Given the description of an element on the screen output the (x, y) to click on. 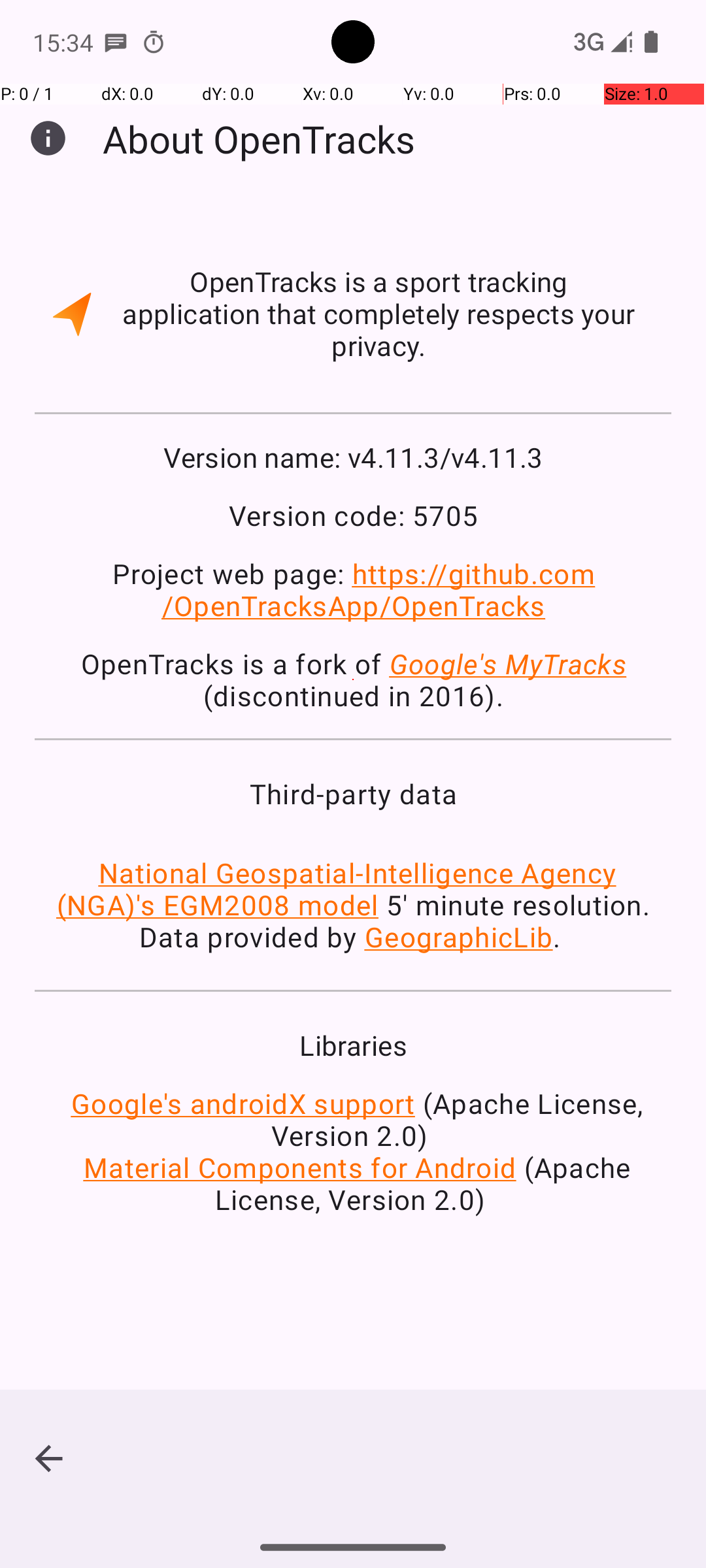
About OpenTracks Element type: android.widget.TextView (258, 138)
OpenTracks is a sport tracking application that completely respects your privacy. Element type: android.widget.TextView (378, 312)
Version name: v4.11.3/v4.11.3 Element type: android.widget.TextView (352, 456)
Version code: 5705 Element type: android.widget.TextView (352, 515)
Project web page: https://github.com/OpenTracksApp/OpenTracks Element type: android.widget.TextView (352, 589)
OpenTracks is a fork of Google's MyTracks (discontinued in 2016). Element type: android.widget.TextView (352, 679)
Third-party data Element type: android.widget.TextView (352, 793)
 National Geospatial-Intelligence Agency (NGA)'s EGM2008 model 5' minute resolution. Data provided by GeographicLib.  Element type: android.widget.TextView (352, 904)
Libraries Element type: android.widget.TextView (352, 1044)
 Google's androidX support (Apache License, Version 2.0) 
 Material Components for Android (Apache License, Version 2.0)  Element type: android.widget.TextView (352, 1150)
